Given the description of an element on the screen output the (x, y) to click on. 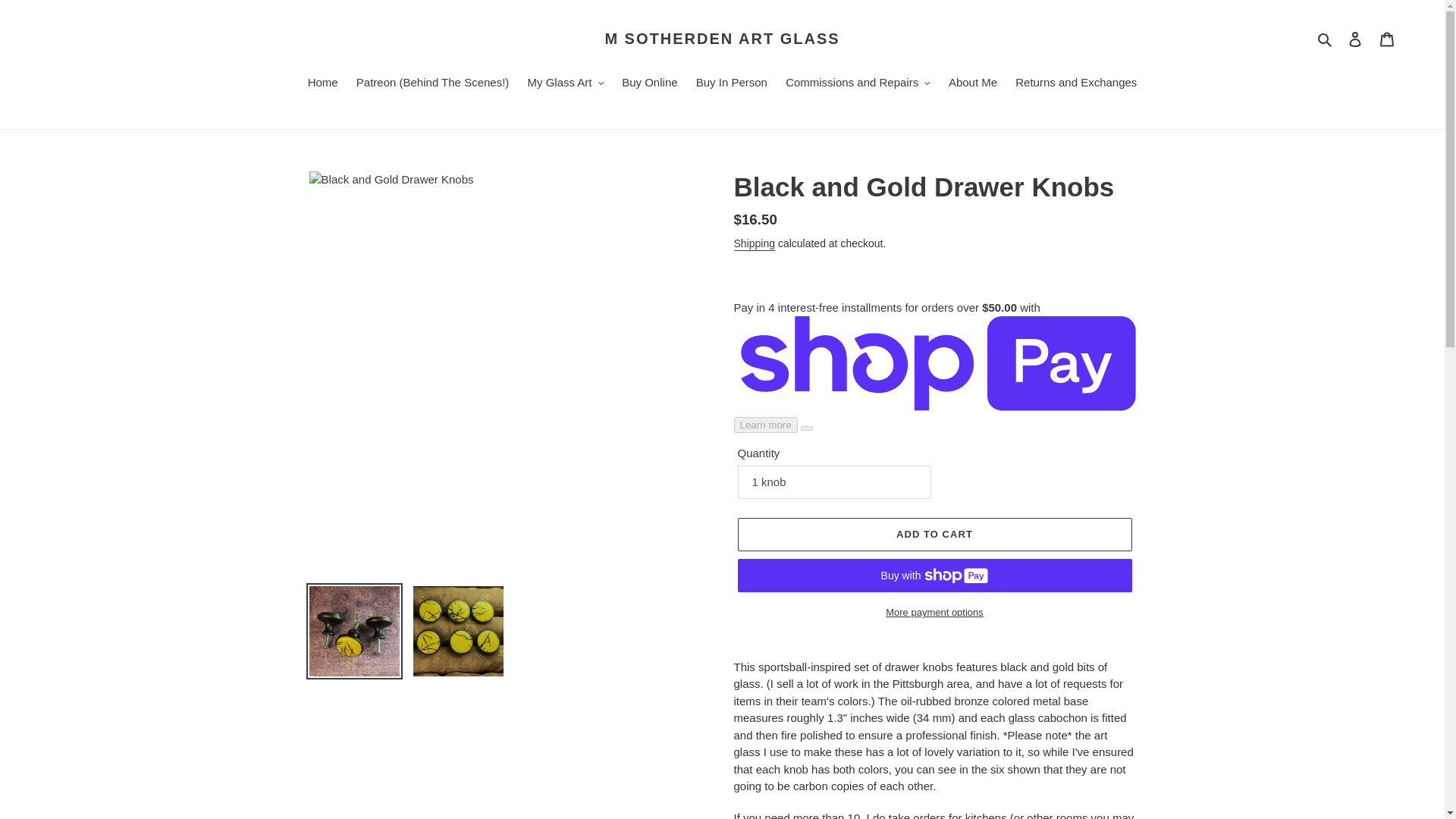
Home (322, 84)
Cart (1387, 38)
Log in (1355, 38)
M SOTHERDEN ART GLASS (722, 38)
Search (1326, 38)
My Glass Art (565, 84)
